Given the description of an element on the screen output the (x, y) to click on. 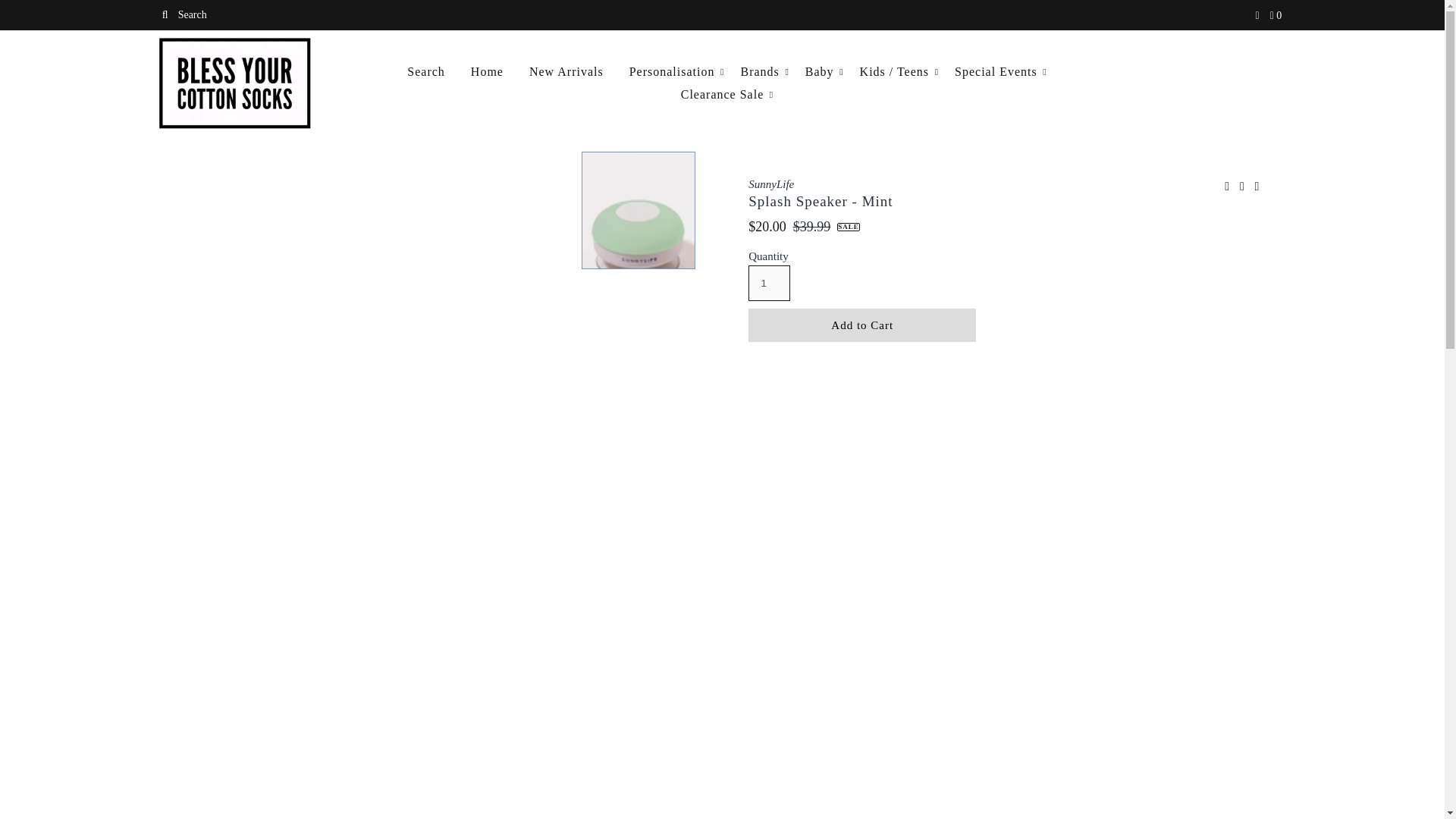
Add to Cart (861, 325)
1 (769, 283)
